Given the description of an element on the screen output the (x, y) to click on. 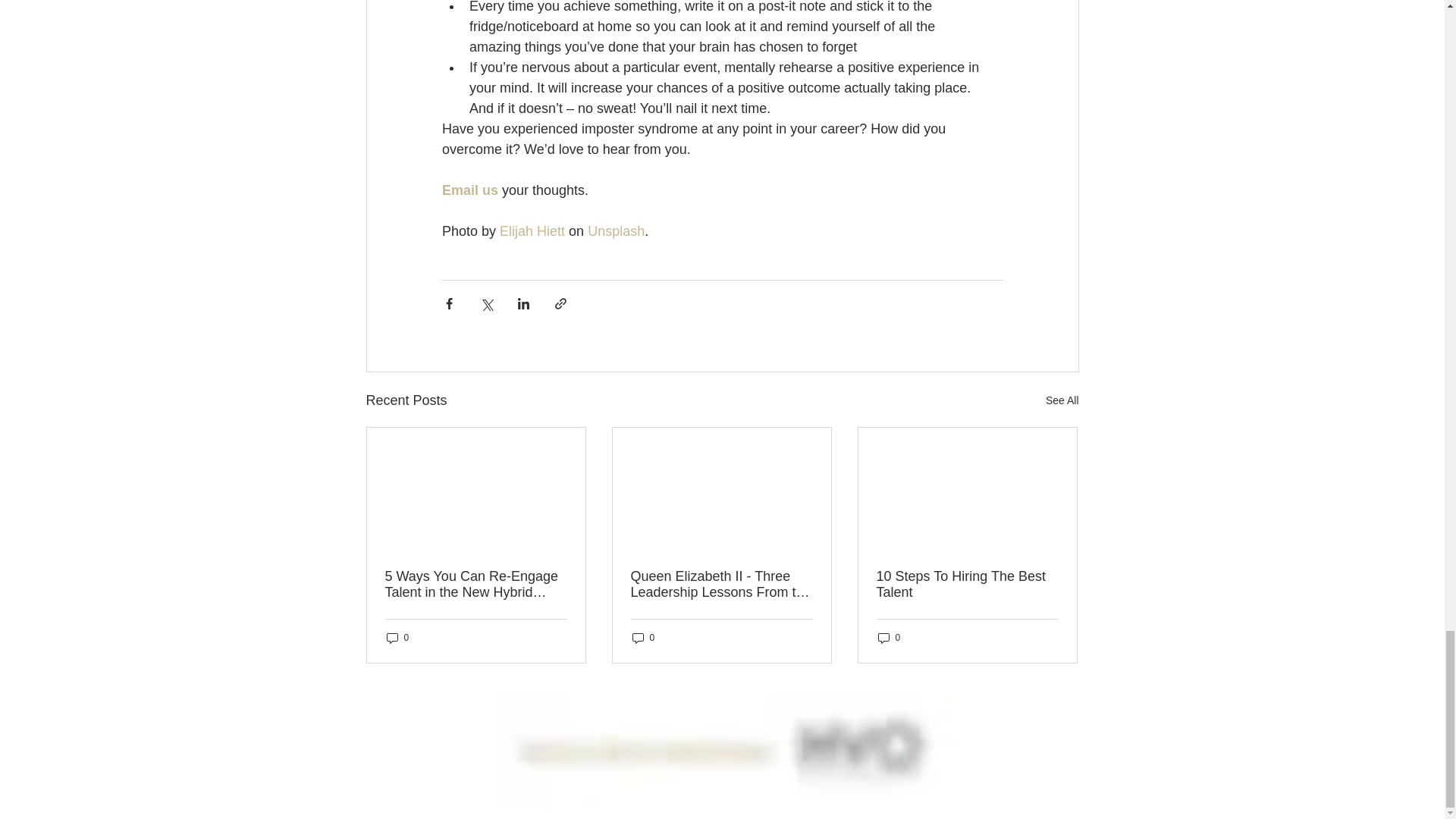
Unsplash (616, 231)
Elijah Hiett (531, 231)
Email us (469, 190)
See All (1061, 400)
